Given the description of an element on the screen output the (x, y) to click on. 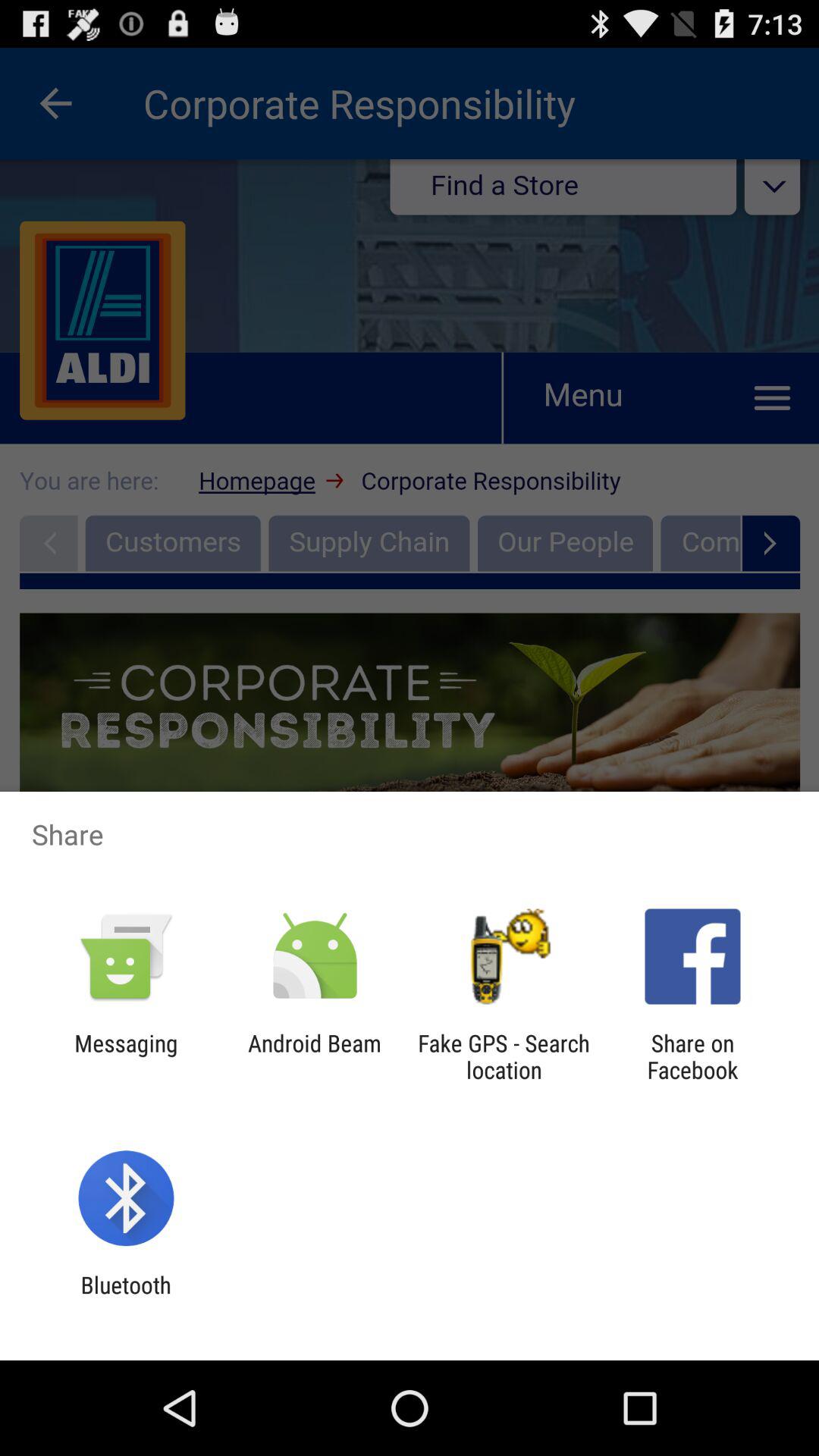
tap the item to the left of the android beam icon (126, 1056)
